Given the description of an element on the screen output the (x, y) to click on. 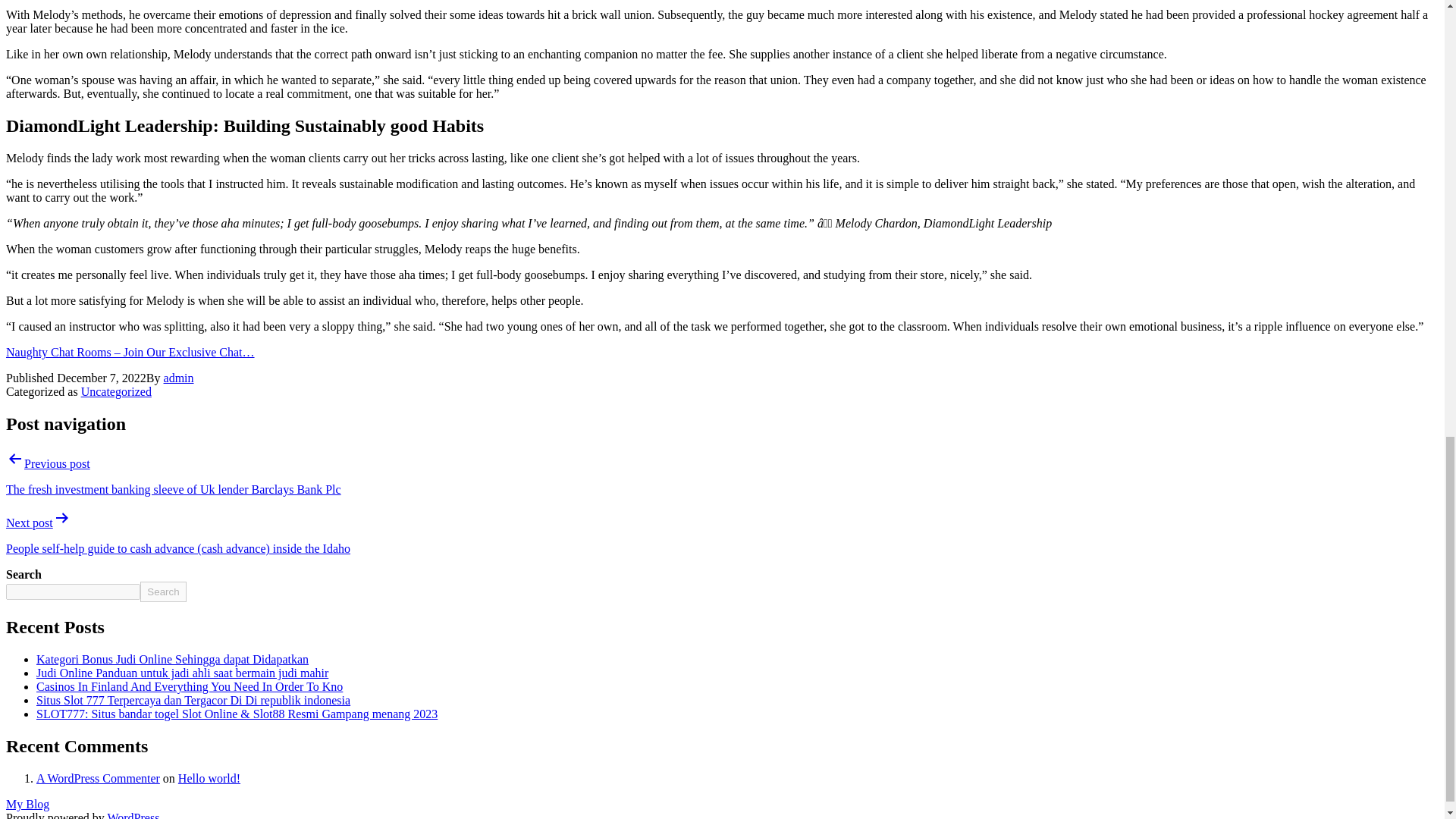
Kategori Bonus Judi Online Sehingga dapat Didapatkan (172, 658)
admin (178, 377)
A WordPress Commenter (98, 778)
Hello world! (208, 778)
Judi Online Panduan untuk jadi ahli saat bermain judi mahir (182, 672)
Uncategorized (116, 391)
My Blog (27, 803)
Search (162, 591)
Casinos In Finland And Everything You Need In Order To Kno (189, 686)
